Given the description of an element on the screen output the (x, y) to click on. 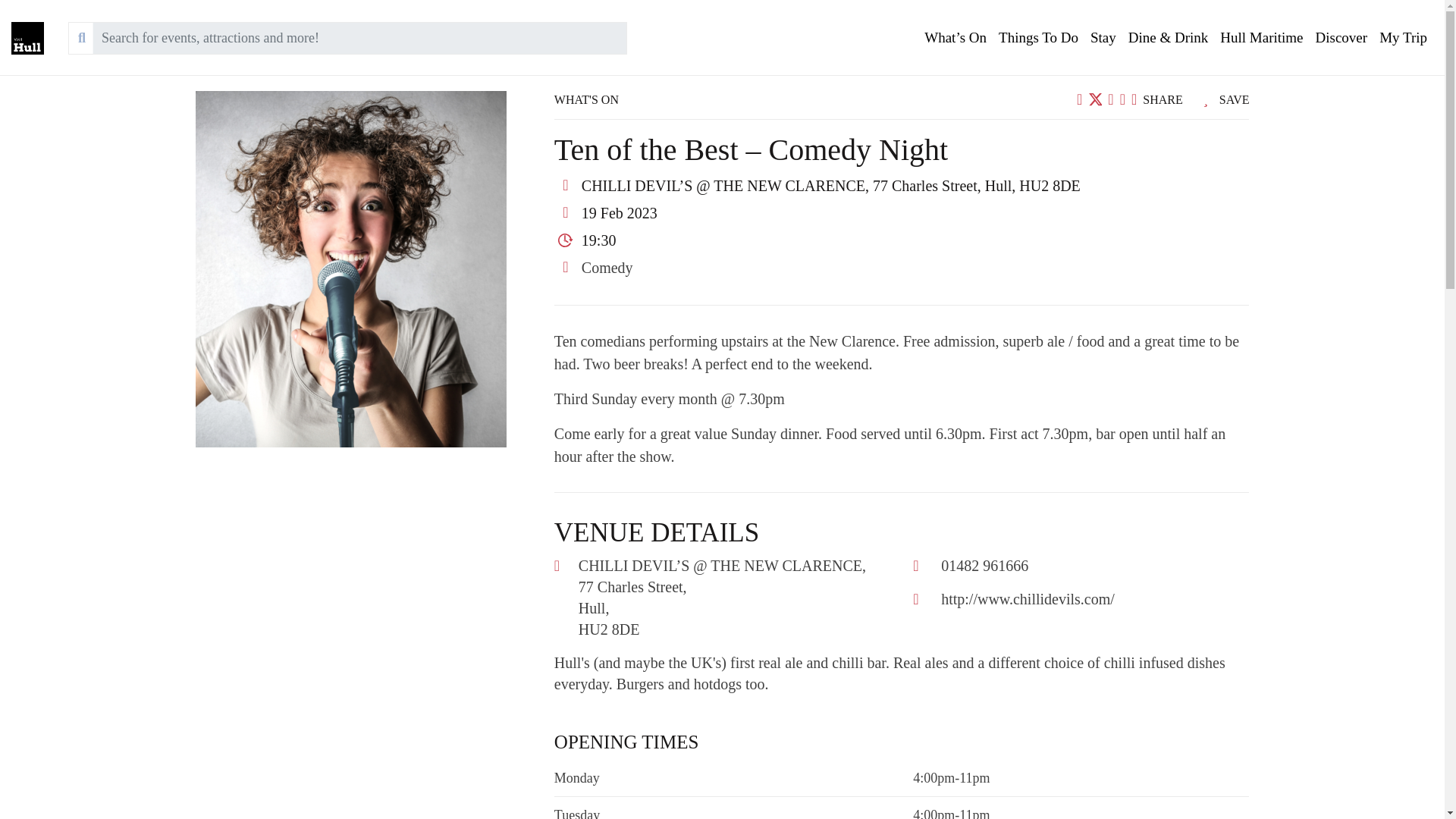
Things To Do (1038, 38)
Things To Do (1038, 38)
Hull Maritime (1261, 38)
Hull Maritime (1261, 38)
What's On (955, 38)
01482 961666 (983, 565)
Comedy (606, 267)
